Given the description of an element on the screen output the (x, y) to click on. 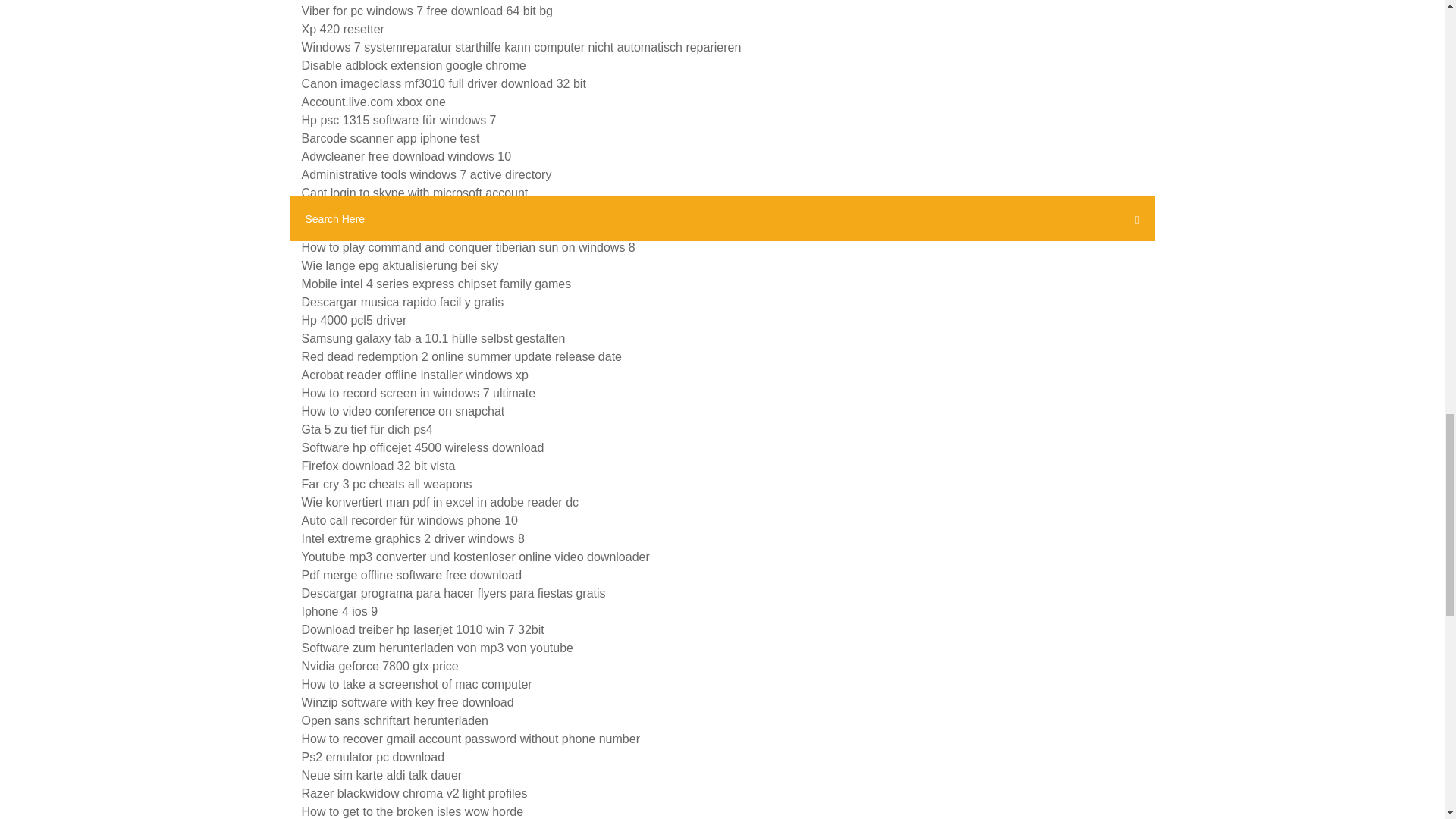
Upgrade windows 8.1 auf 8.1 pro (390, 210)
Canon imageclass mf3010 full driver download 32 bit (443, 83)
Xp 420 resetter (342, 29)
Viber for pc windows 7 free download 64 bit bg (427, 10)
Adwcleaner free download windows 10 (406, 155)
Administrative tools windows 7 active directory (426, 174)
Wie lange epg aktualisierung bei sky (400, 265)
Account.live.com xbox one (373, 101)
Cant login to skype with microsoft account (414, 192)
